Given the description of an element on the screen output the (x, y) to click on. 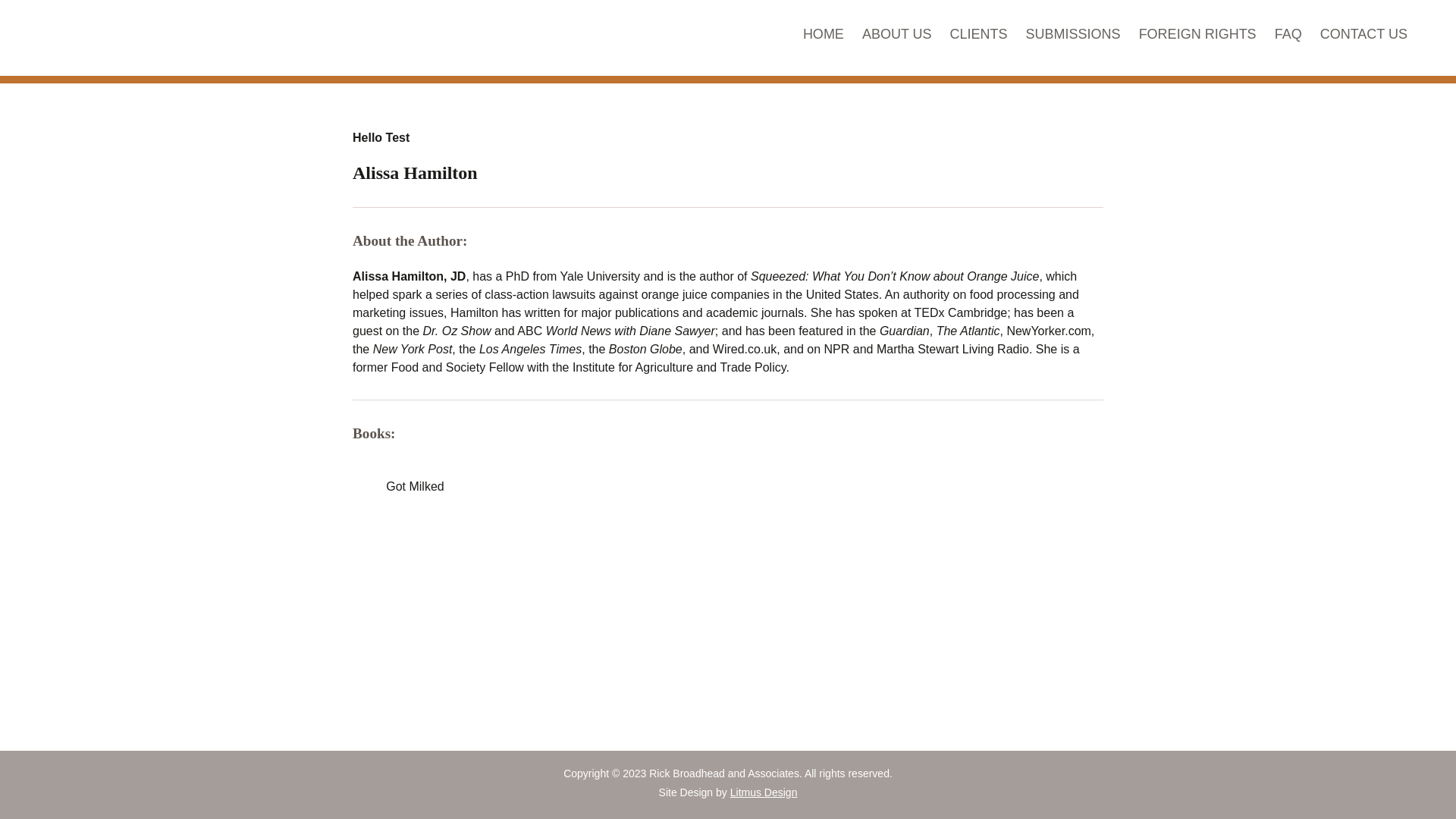
CLIENTS (978, 35)
FOREIGN RIGHTS (1197, 35)
Litmus Design (763, 792)
HOME (823, 35)
ABOUT US (896, 35)
FAQ (1288, 35)
CONTACT US (1363, 35)
SUBMISSIONS (1073, 35)
